Given the description of an element on the screen output the (x, y) to click on. 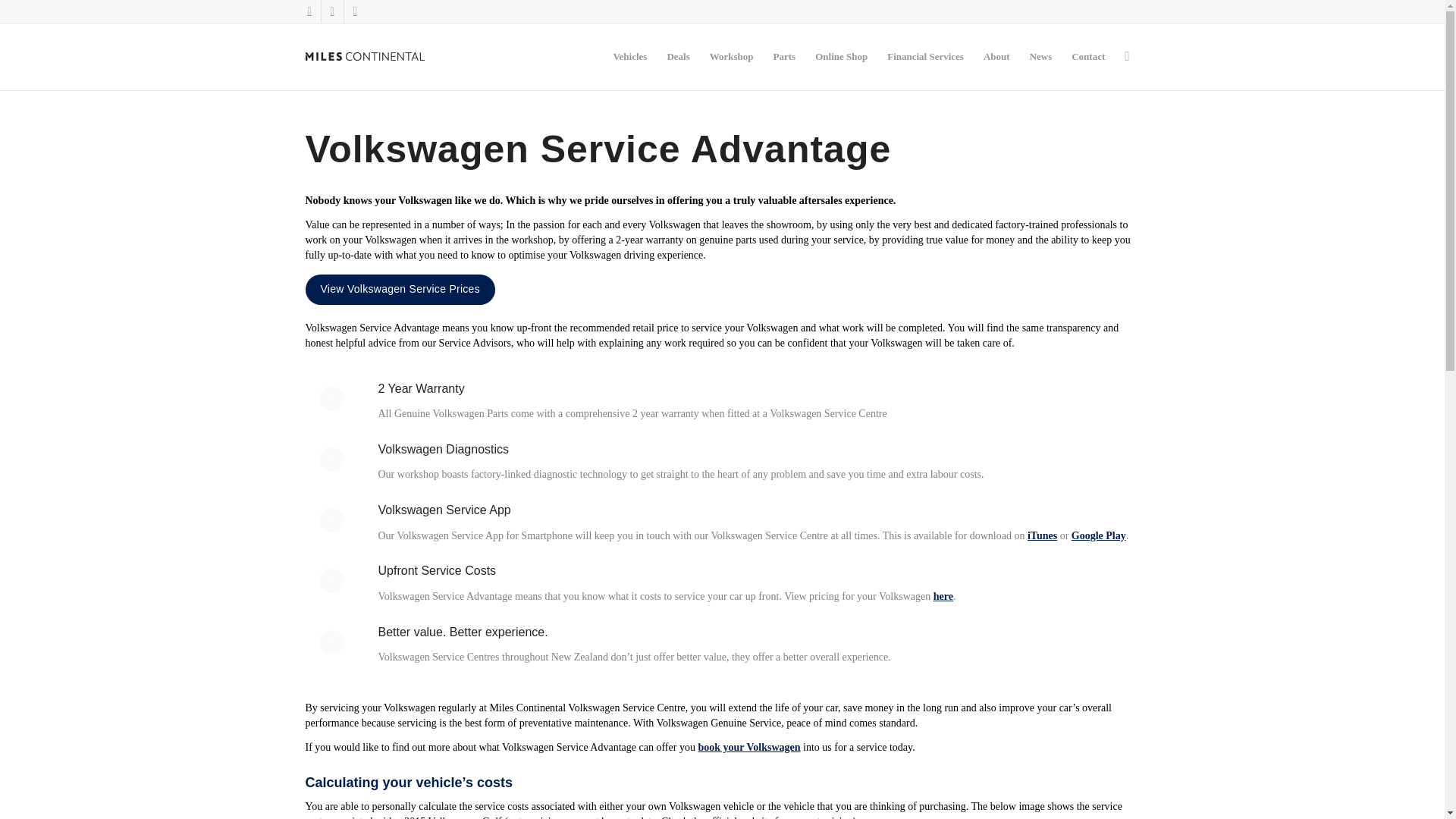
miles-continental-logo-2023 (363, 56)
Youtube (354, 11)
Instagram (309, 11)
Facebook (332, 11)
